Given the description of an element on the screen output the (x, y) to click on. 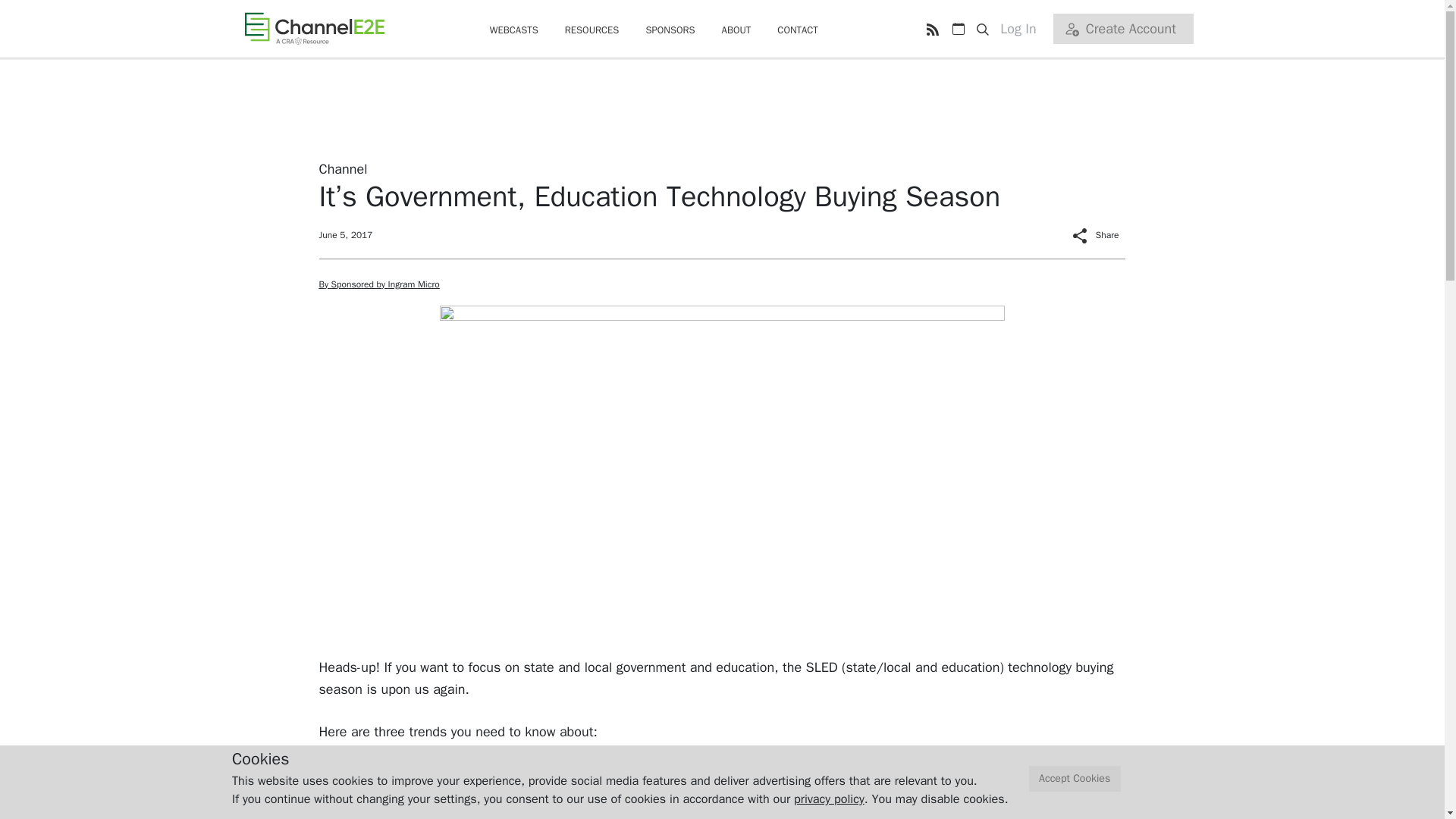
View Cybersecurity Conference Calendar (957, 28)
SPONSORS (669, 30)
WEBCASTS (513, 30)
RESOURCES (592, 30)
Accept Cookies (1075, 778)
ChannelE2E (314, 27)
privacy policy (828, 798)
Create Account (1122, 29)
CONTACT (797, 30)
Log In (1023, 29)
By Sponsored by Ingram Micro (378, 284)
ABOUT (736, 30)
Channel (342, 168)
